Given the description of an element on the screen output the (x, y) to click on. 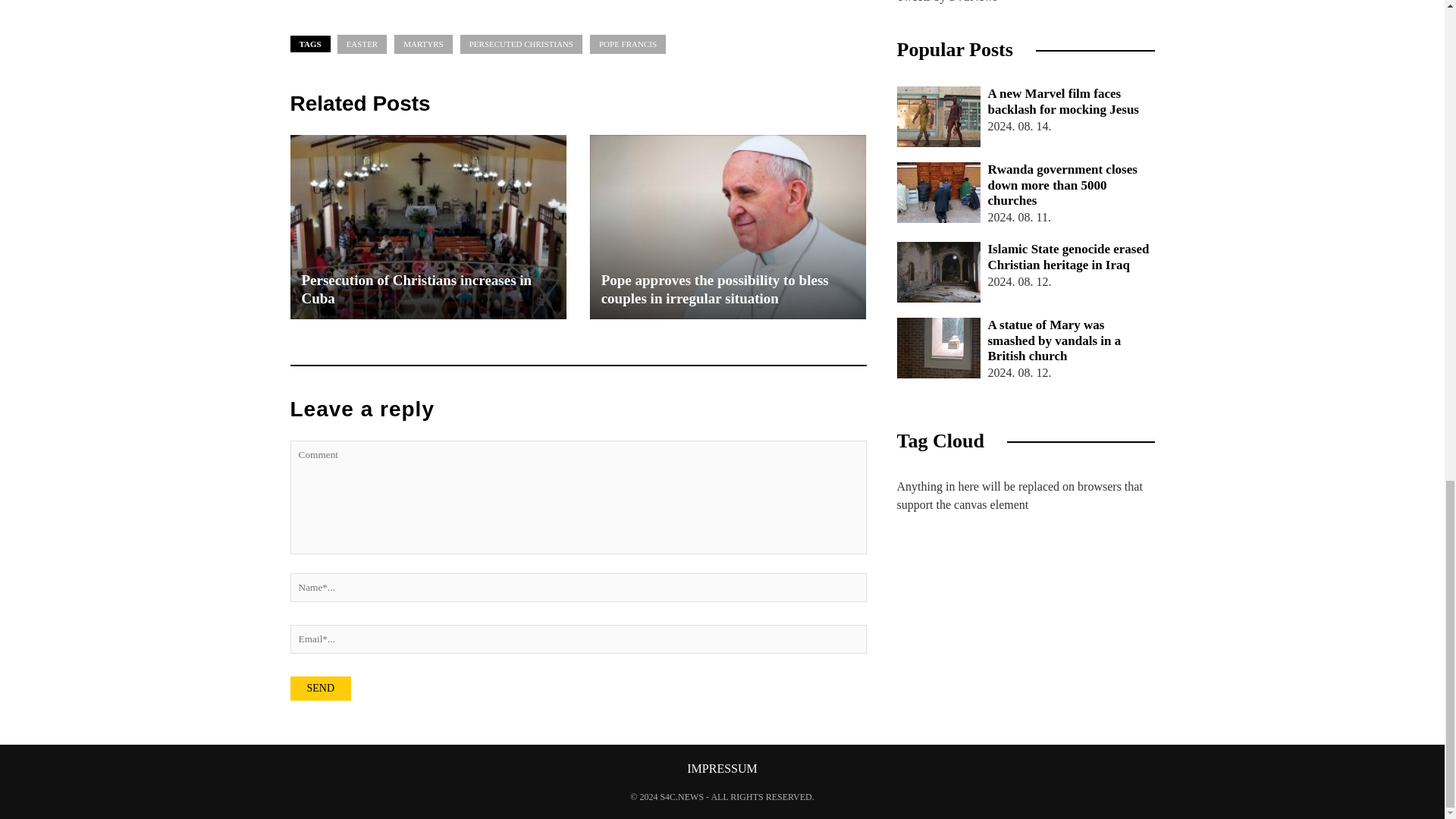
PERSECUTED CHRISTIANS (521, 44)
Send (319, 688)
Rwanda government closes down more than 5000 churches (937, 192)
Islamic State genocide erased Christian heritage in Iraq (937, 271)
A statue of Mary was smashed by vandals in a British church (937, 347)
A new Marvel film faces backlash for mocking Jesus (1025, 101)
View all posts tagged Martyrs (422, 44)
View all posts tagged Easter (362, 44)
EASTER (362, 44)
MARTYRS (422, 44)
